Given the description of an element on the screen output the (x, y) to click on. 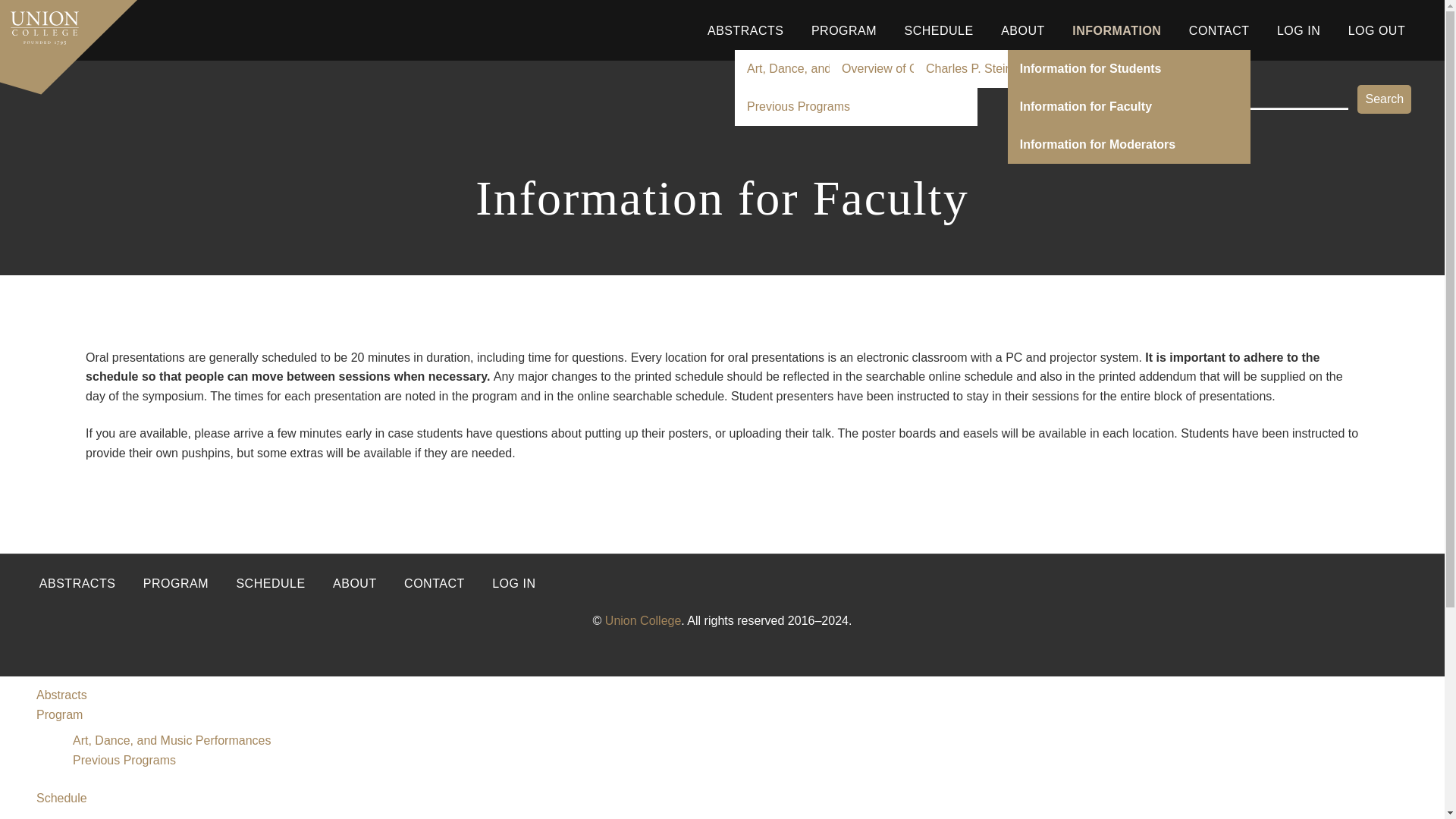
INFORMATION (1116, 31)
Art, Dance, and Music Performances (171, 739)
Information for Faculty (1128, 106)
Charles P. Steinmetz (1035, 68)
Union College (643, 620)
PROGRAM (843, 31)
Program (59, 714)
ABSTRACTS (745, 31)
SCHEDULE (938, 31)
